Given the description of an element on the screen output the (x, y) to click on. 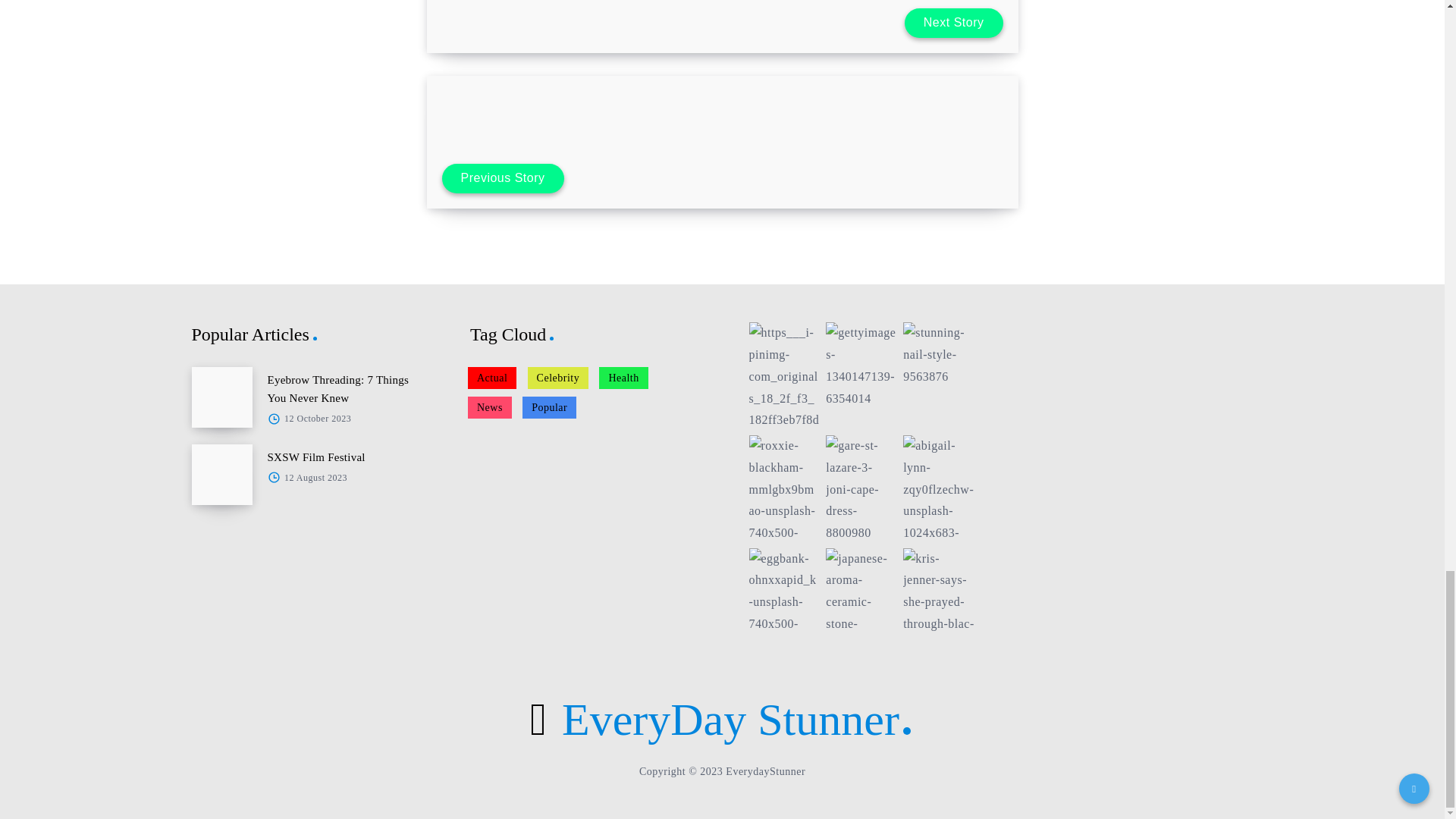
News (489, 407)
Health (622, 377)
EveryDay Stunner (721, 719)
Popular (549, 407)
SXSW Film Festival (315, 457)
Celebrity (558, 377)
Actual (491, 377)
Eyebrow Threading: 7 Things You Never Knew (337, 388)
